Given the description of an element on the screen output the (x, y) to click on. 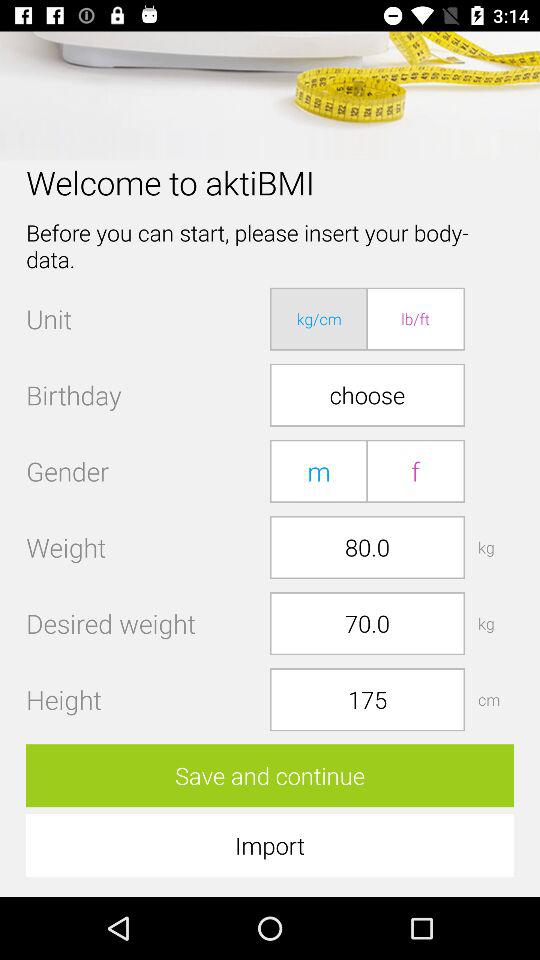
turn on icon to the right of the birthday (367, 394)
